Given the description of an element on the screen output the (x, y) to click on. 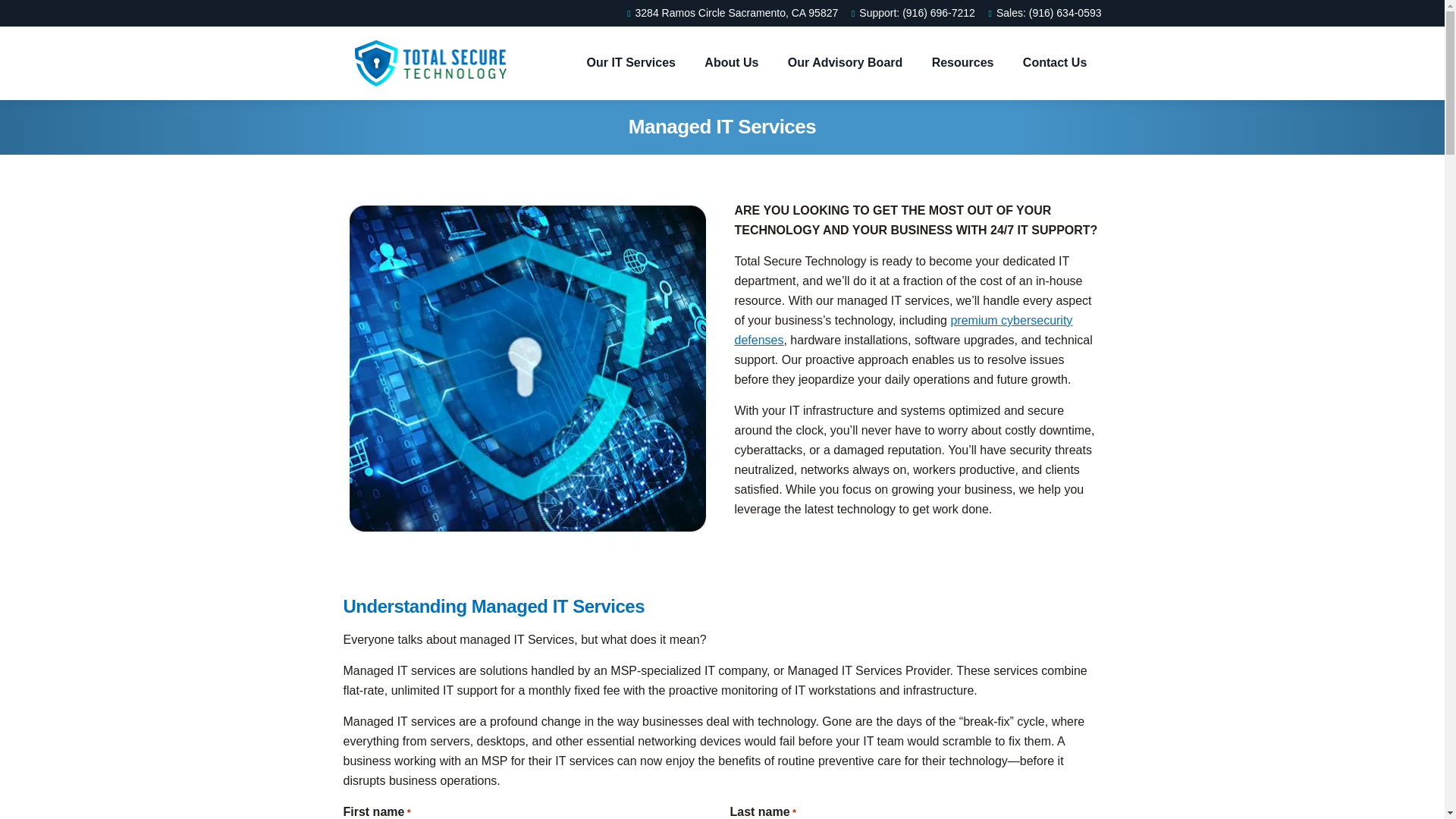
About Us (731, 63)
Our IT Services (630, 63)
Our Advisory Board (844, 63)
premium cybersecurity defenses (902, 329)
Resources (962, 63)
3284 Ramos Circle Sacramento, CA 95827 (730, 12)
Contact Us (1054, 63)
